Given the description of an element on the screen output the (x, y) to click on. 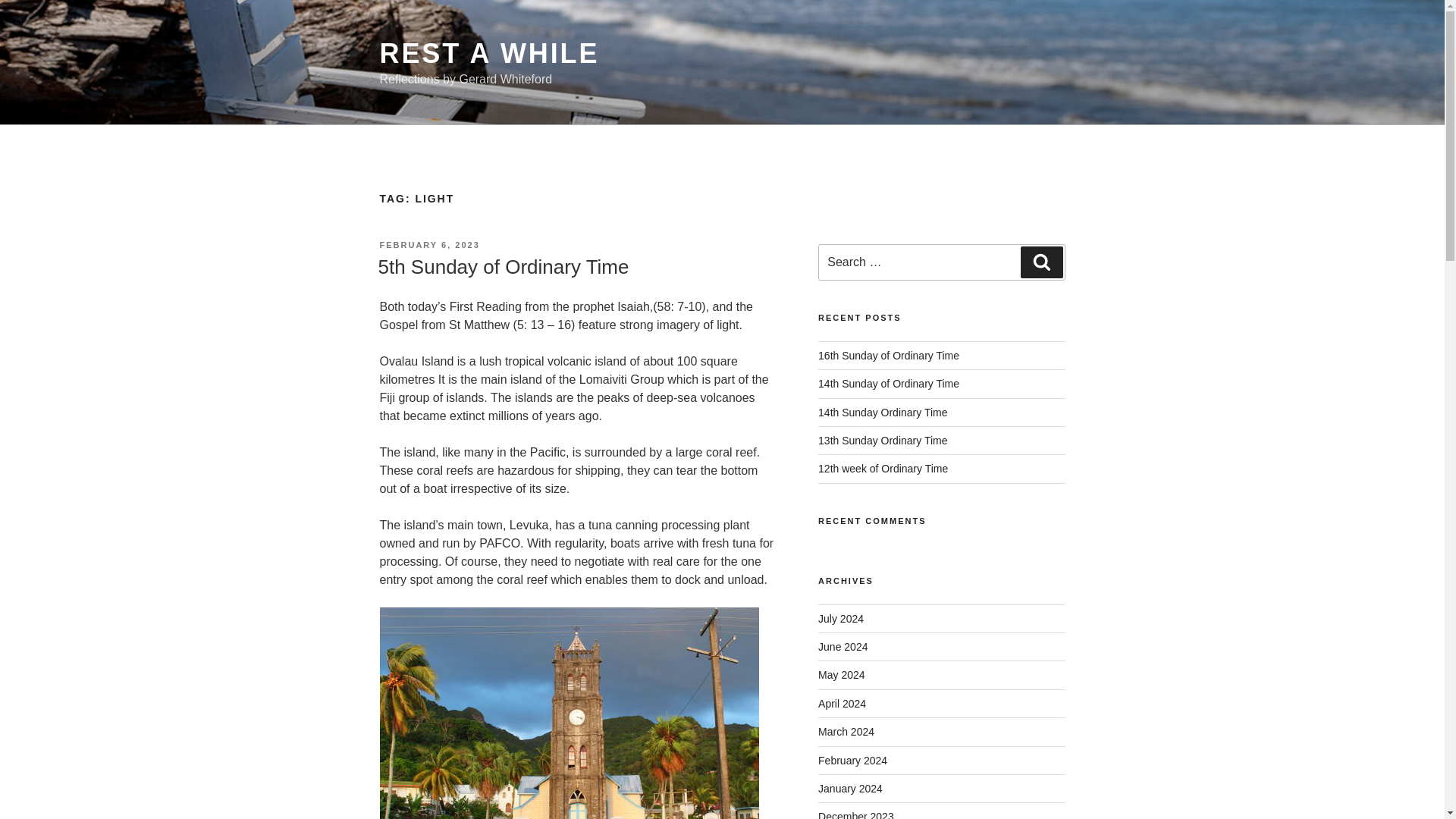
April 2024 (842, 703)
FEBRUARY 6, 2023 (428, 244)
March 2024 (846, 731)
14th Sunday Ordinary Time (882, 412)
Search (1041, 262)
13th Sunday Ordinary Time (882, 440)
July 2024 (840, 618)
January 2024 (850, 788)
June 2024 (842, 646)
May 2024 (841, 674)
12th week of Ordinary Time (882, 468)
February 2024 (852, 760)
REST A WHILE (488, 52)
16th Sunday of Ordinary Time (888, 355)
December 2023 (855, 814)
